Given the description of an element on the screen output the (x, y) to click on. 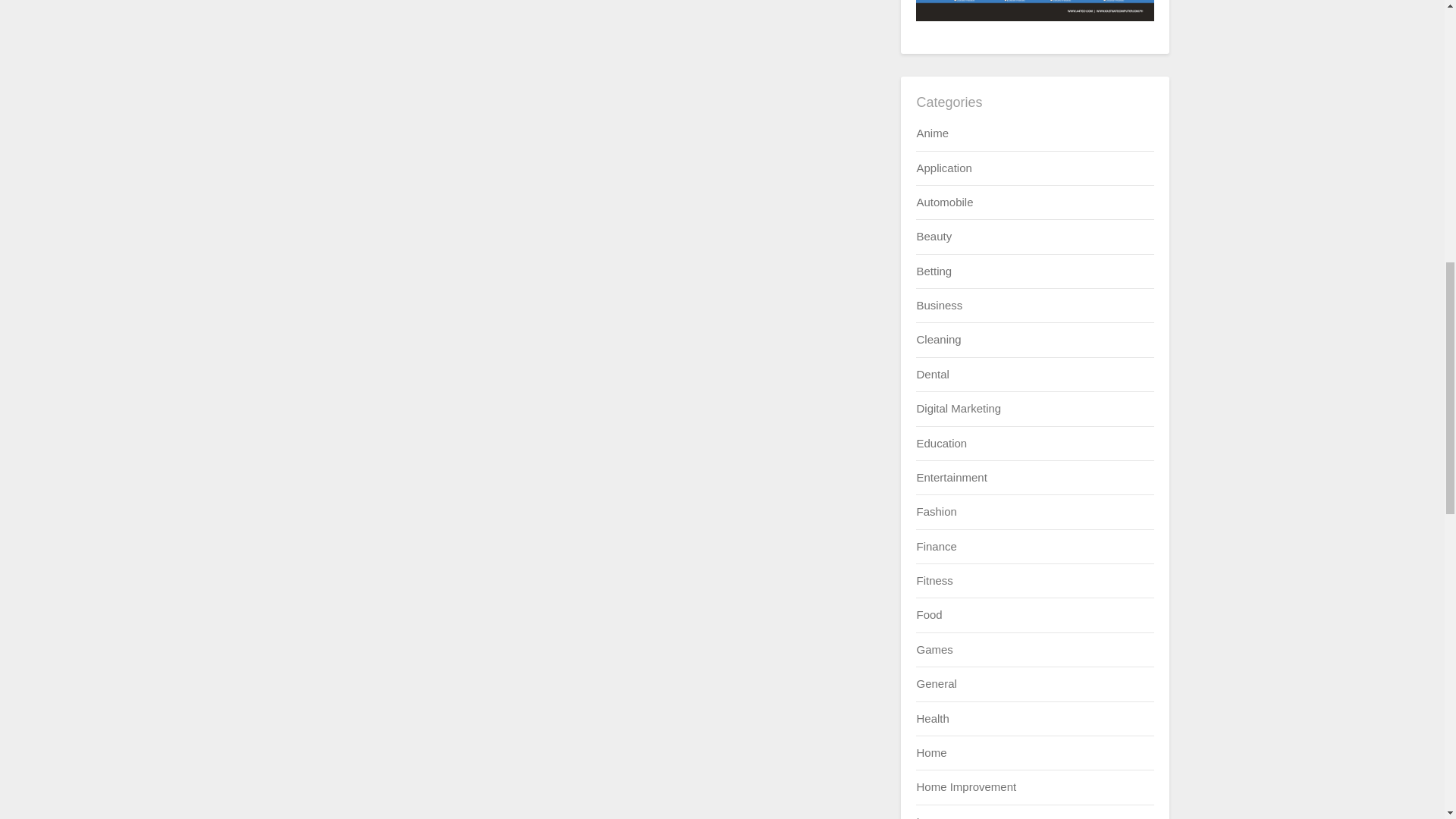
Beauty (933, 236)
Home (930, 752)
Fitness (933, 580)
Fashion (935, 511)
Health (932, 717)
Digital Marketing (958, 408)
Games (933, 649)
Entertainment (951, 477)
Insurance (940, 816)
Business (938, 305)
